Given the description of an element on the screen output the (x, y) to click on. 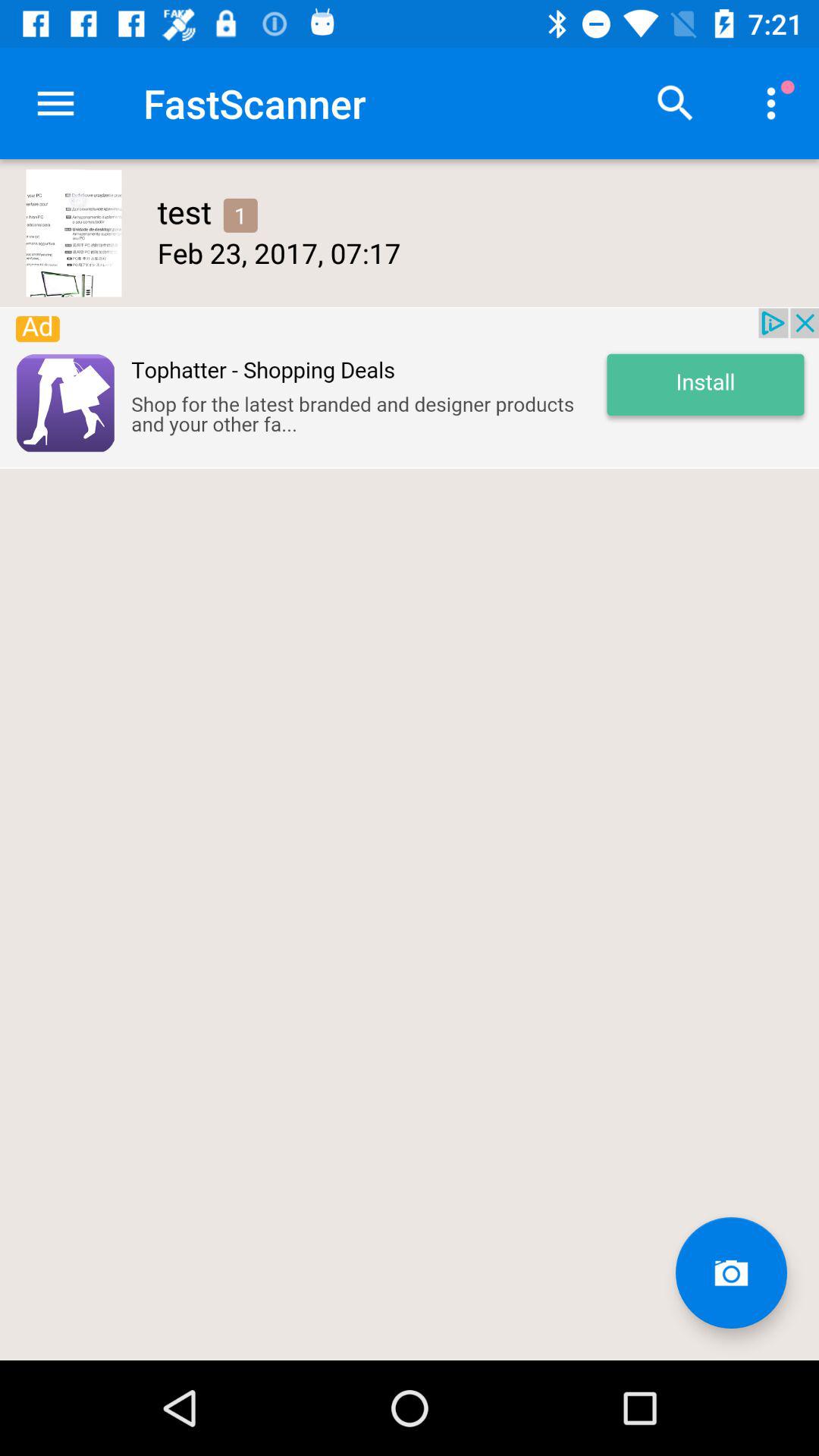
close the app (409, 387)
